Given the description of an element on the screen output the (x, y) to click on. 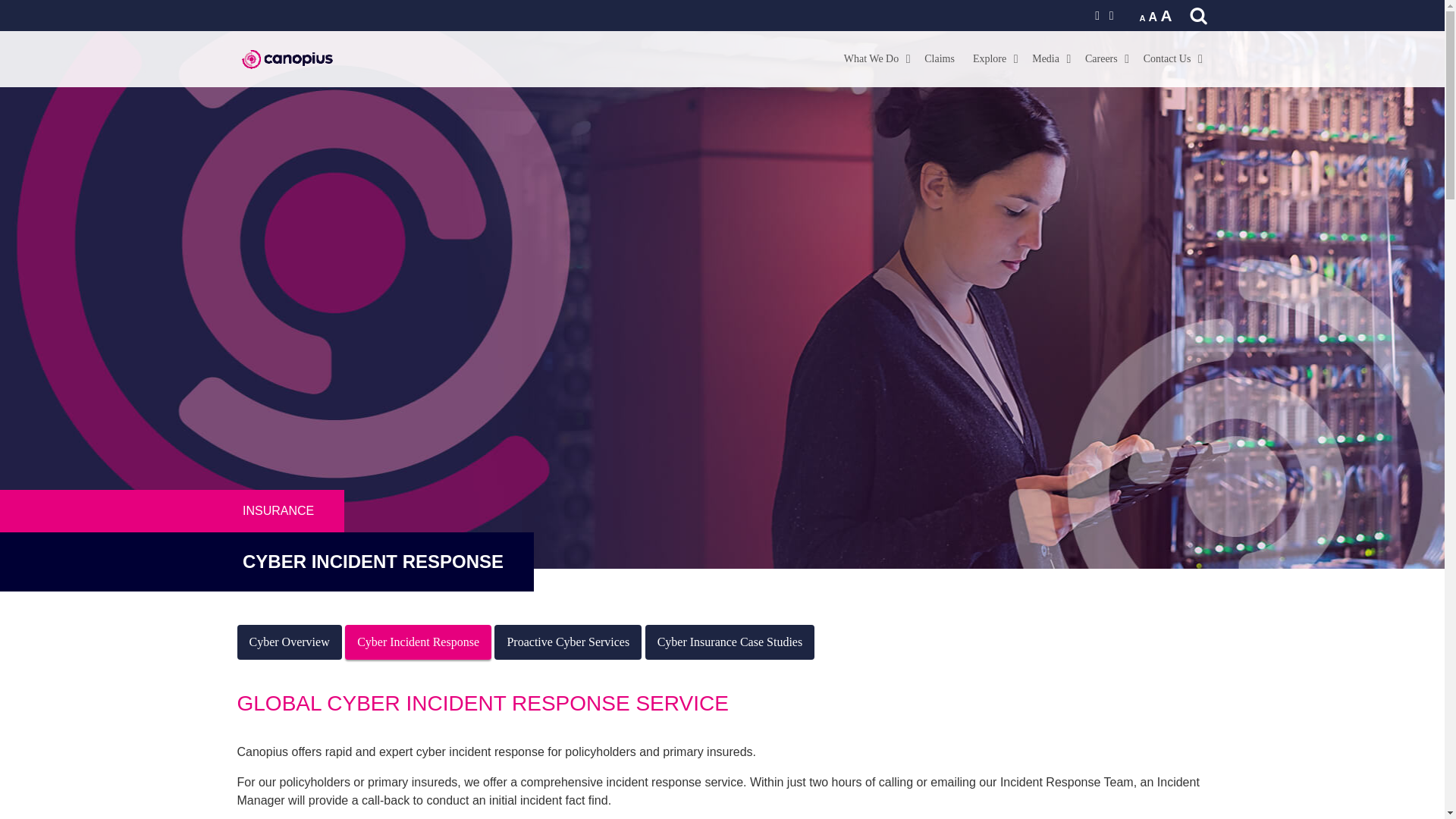
Increase font size (1166, 15)
Canopius (285, 39)
Claims (939, 58)
A (1152, 16)
Reset font size (1152, 16)
Decrease font size (1141, 17)
A (1166, 15)
Search (31, 15)
What We Do (874, 58)
A (1141, 17)
